Given the description of an element on the screen output the (x, y) to click on. 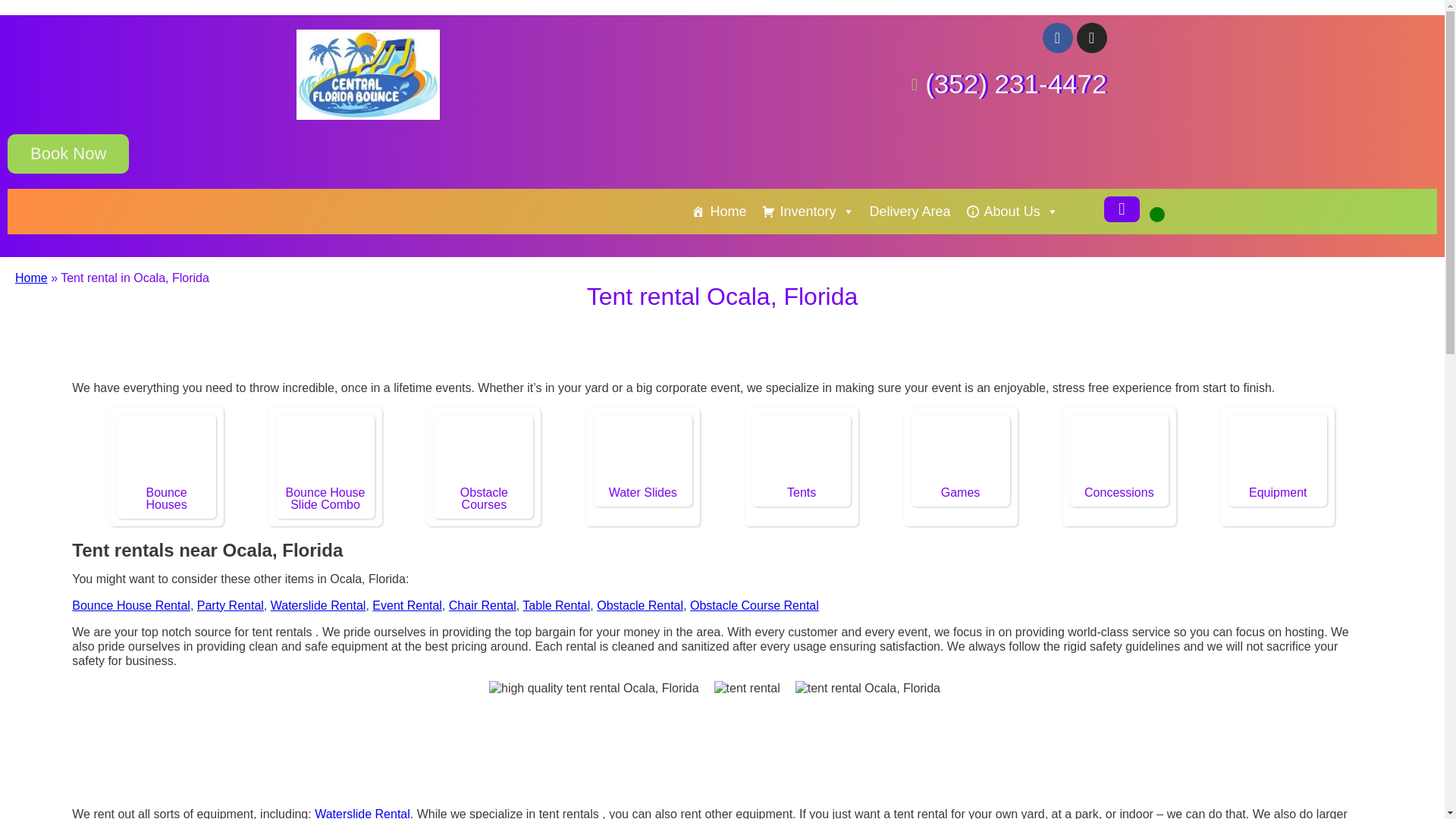
Book Now (68, 153)
Bounce House Slide Combo (324, 498)
Water Slides (642, 452)
Water Slides (642, 492)
Home (31, 277)
Home (719, 211)
Games (960, 452)
Bounce House Slide Combo (325, 452)
Bounce Houses (166, 452)
Bounce Houses (166, 498)
